Given the description of an element on the screen output the (x, y) to click on. 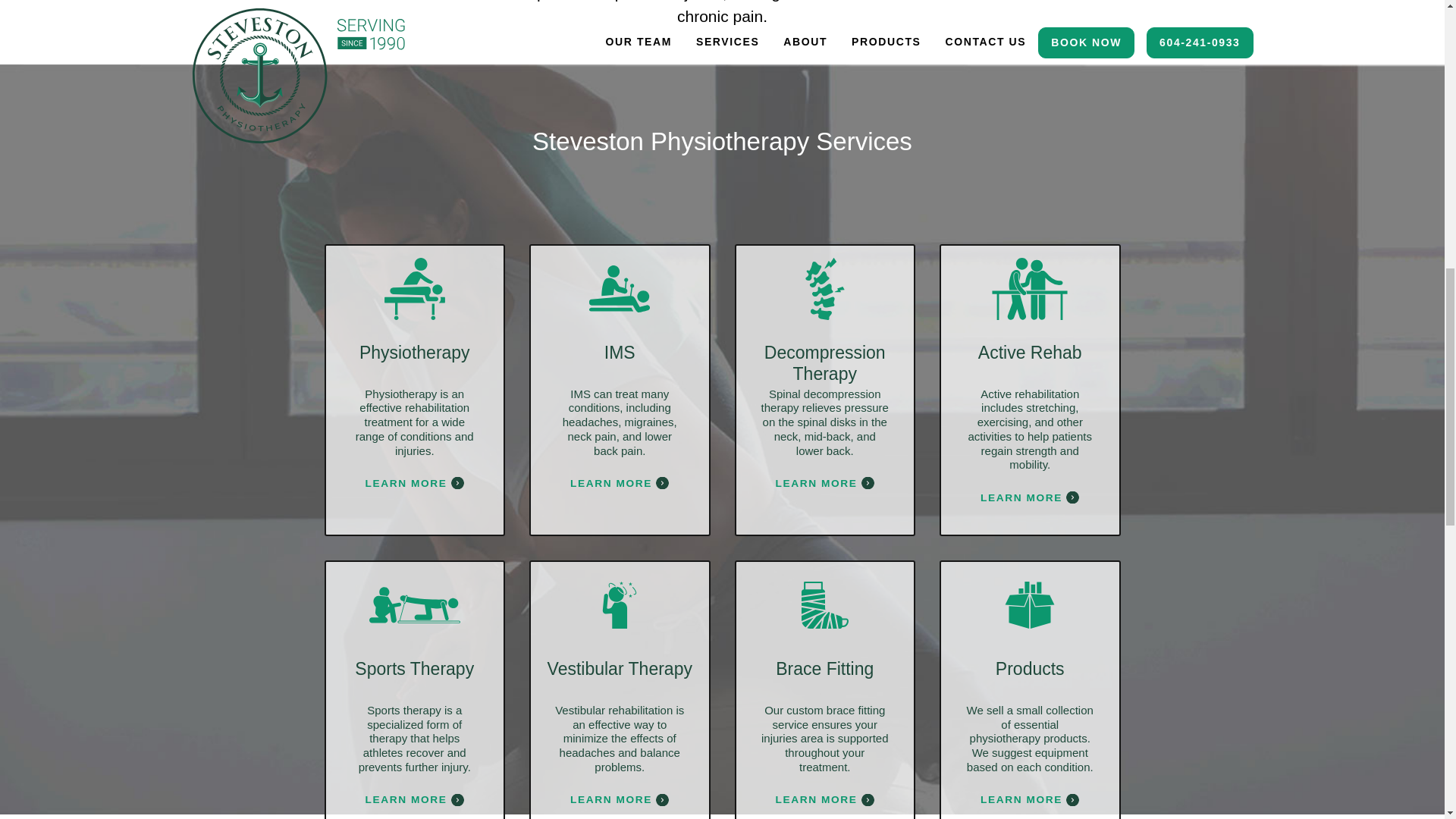
LEARN MORE (619, 799)
LEARN MORE (414, 799)
LEARN MORE (825, 482)
LEARN MORE (825, 799)
LEARN MORE (1028, 497)
LEARN MORE (619, 482)
LEARN MORE (414, 482)
LEARN MORE (1028, 799)
